Given the description of an element on the screen output the (x, y) to click on. 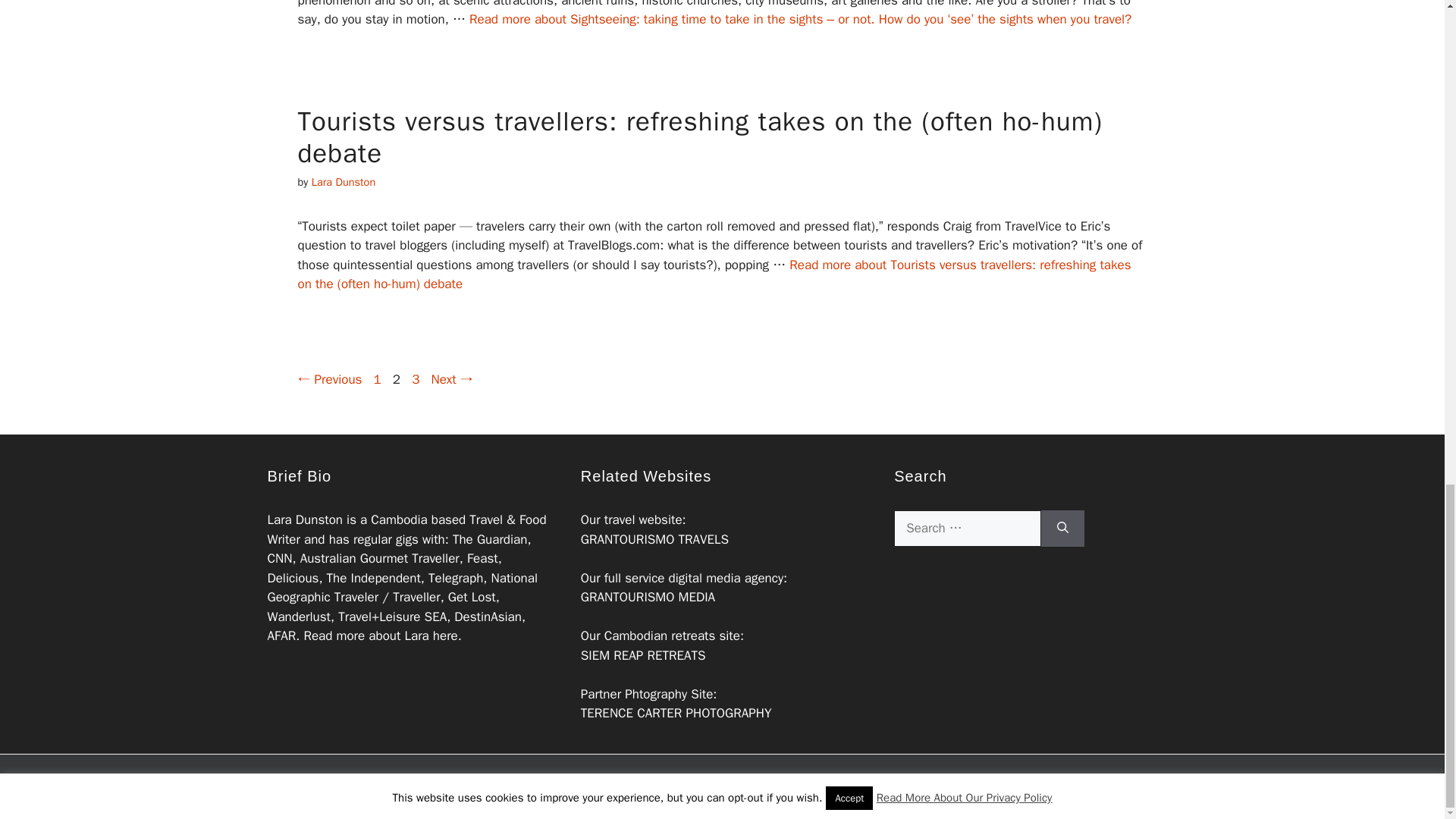
GRANTOURISMO TRAVELS (654, 539)
Cambodia (398, 519)
Read more about Lara here (379, 635)
Lara Dunston (343, 182)
TERENCE CARTER PHOTOGRAPHY (675, 713)
SIEM REAP RETREATS (643, 655)
GRANTOURISMO MEDIA (415, 379)
View all posts by Lara Dunston (377, 379)
